Given the description of an element on the screen output the (x, y) to click on. 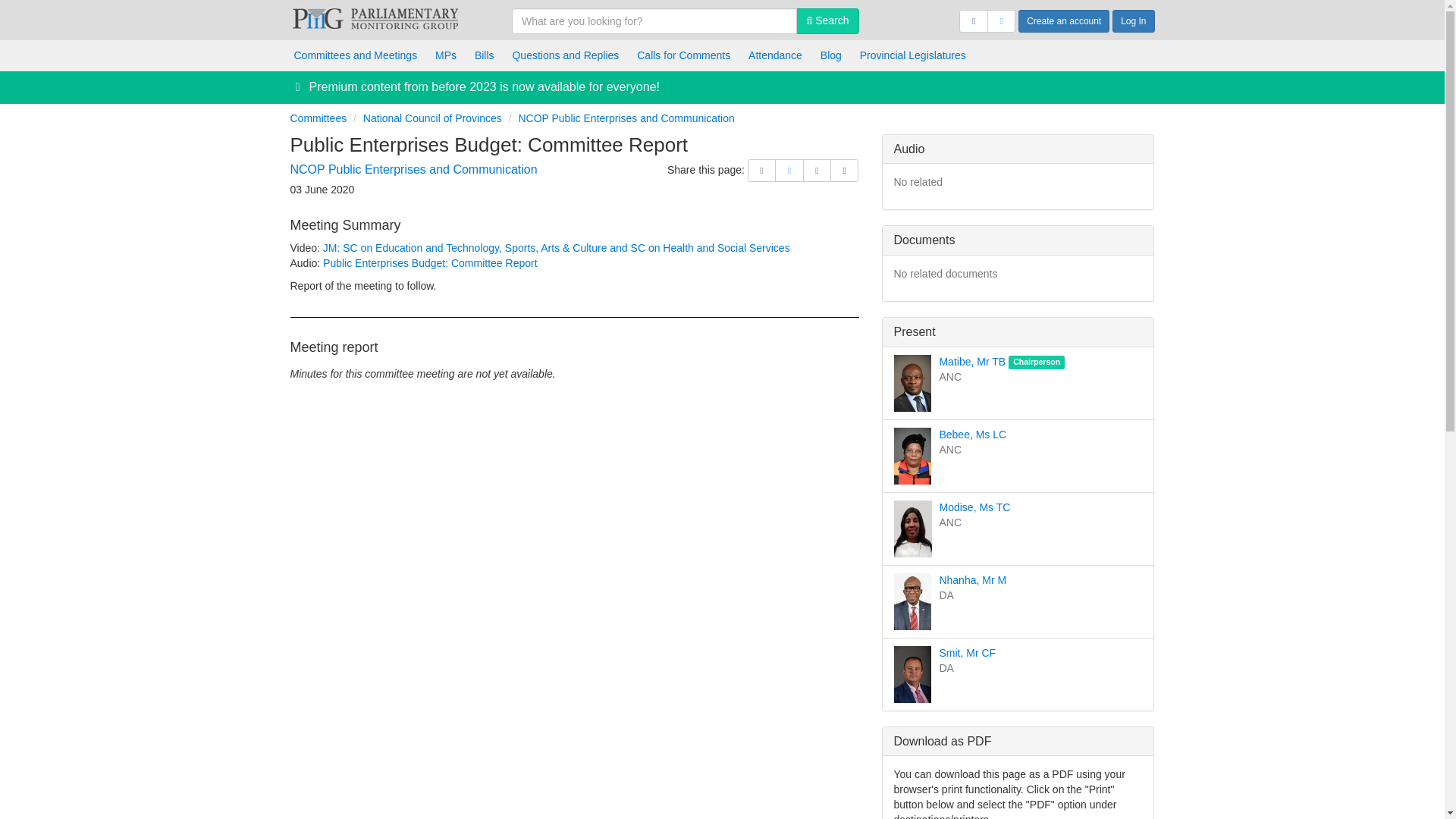
MPs (446, 55)
Log In (1133, 20)
Committees (317, 118)
National Council of Provinces (432, 118)
NCOP Public Enterprises and Communication (413, 169)
Bills (484, 55)
Committees and Meetings (355, 55)
Search (827, 21)
NCOP Public Enterprises and Communication (625, 118)
Blog (830, 55)
Attendance (775, 55)
Calls for Comments (683, 55)
Create an account (1063, 20)
Provincial Legislatures (912, 55)
Questions and Replies (564, 55)
